Given the description of an element on the screen output the (x, y) to click on. 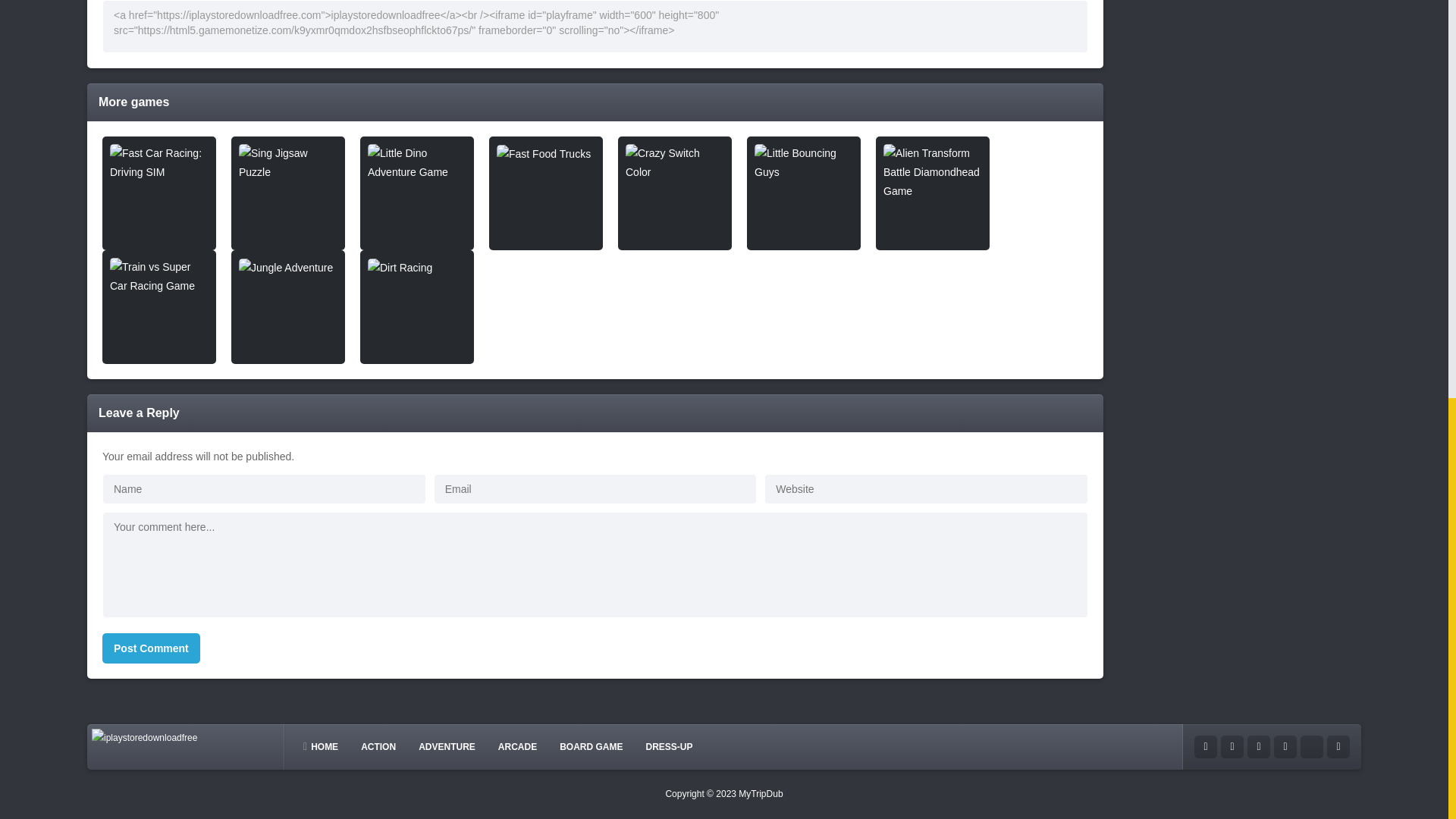
Post Comment (150, 648)
